Given the description of an element on the screen output the (x, y) to click on. 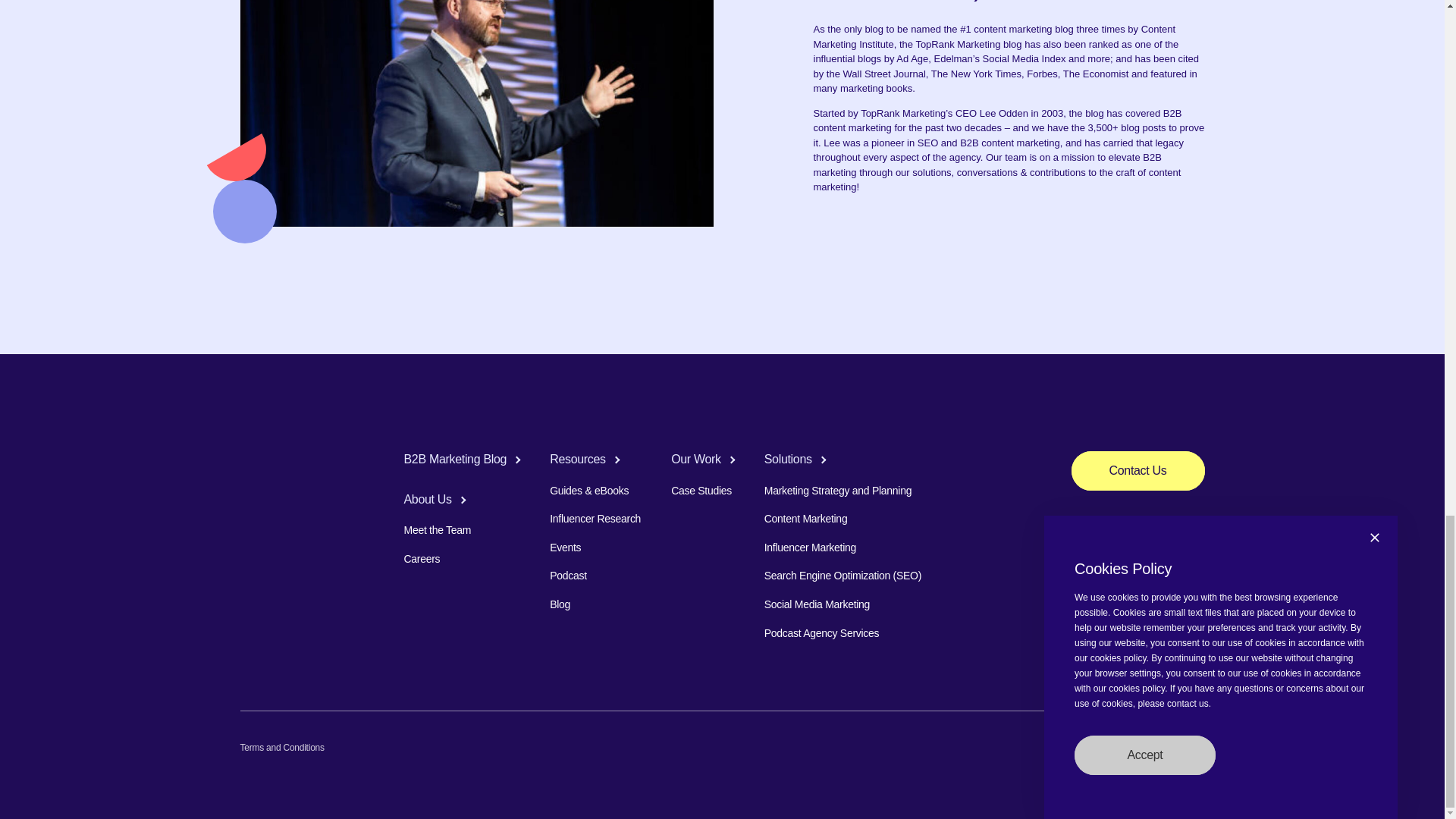
TopRankMarketing logo (287, 461)
